Given the description of an element on the screen output the (x, y) to click on. 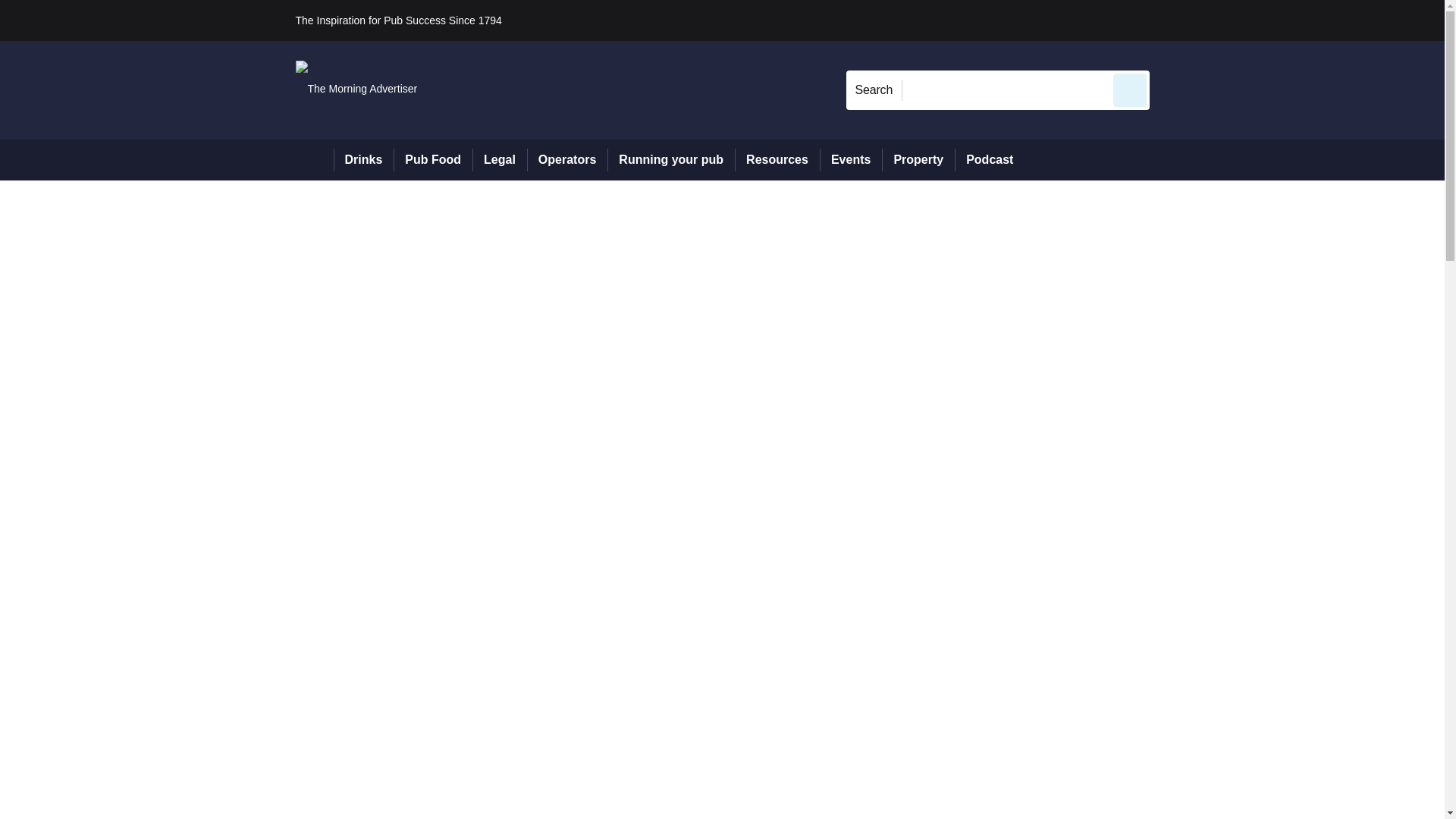
The Morning Advertiser (356, 89)
Pub Food (432, 159)
REGISTER (1250, 20)
Legal (499, 159)
Home (314, 159)
Home (313, 159)
Send (1129, 89)
Send (1129, 90)
Sign in (1171, 20)
Sign out (1174, 20)
